Given the description of an element on the screen output the (x, y) to click on. 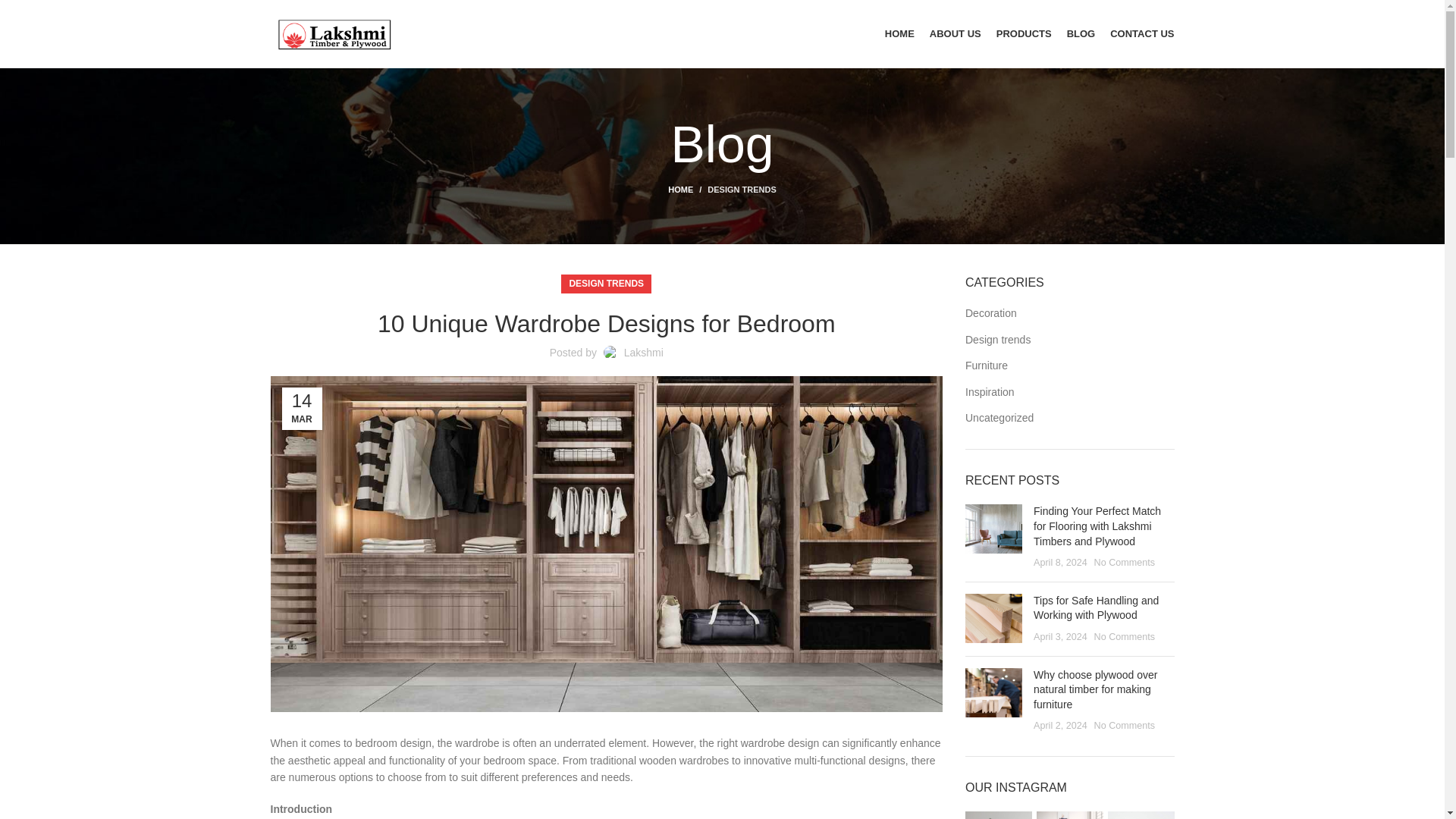
Permalink to Tips for Safe Handling and Working with Plywood (1095, 607)
Lakshmi (643, 352)
BLOG (1081, 33)
DESIGN TRENDS (741, 189)
PRODUCTS (1023, 33)
CONTACT US (1141, 33)
HOME (899, 33)
HOME (687, 189)
ABOUT US (955, 33)
DESIGN TRENDS (606, 283)
